Given the description of an element on the screen output the (x, y) to click on. 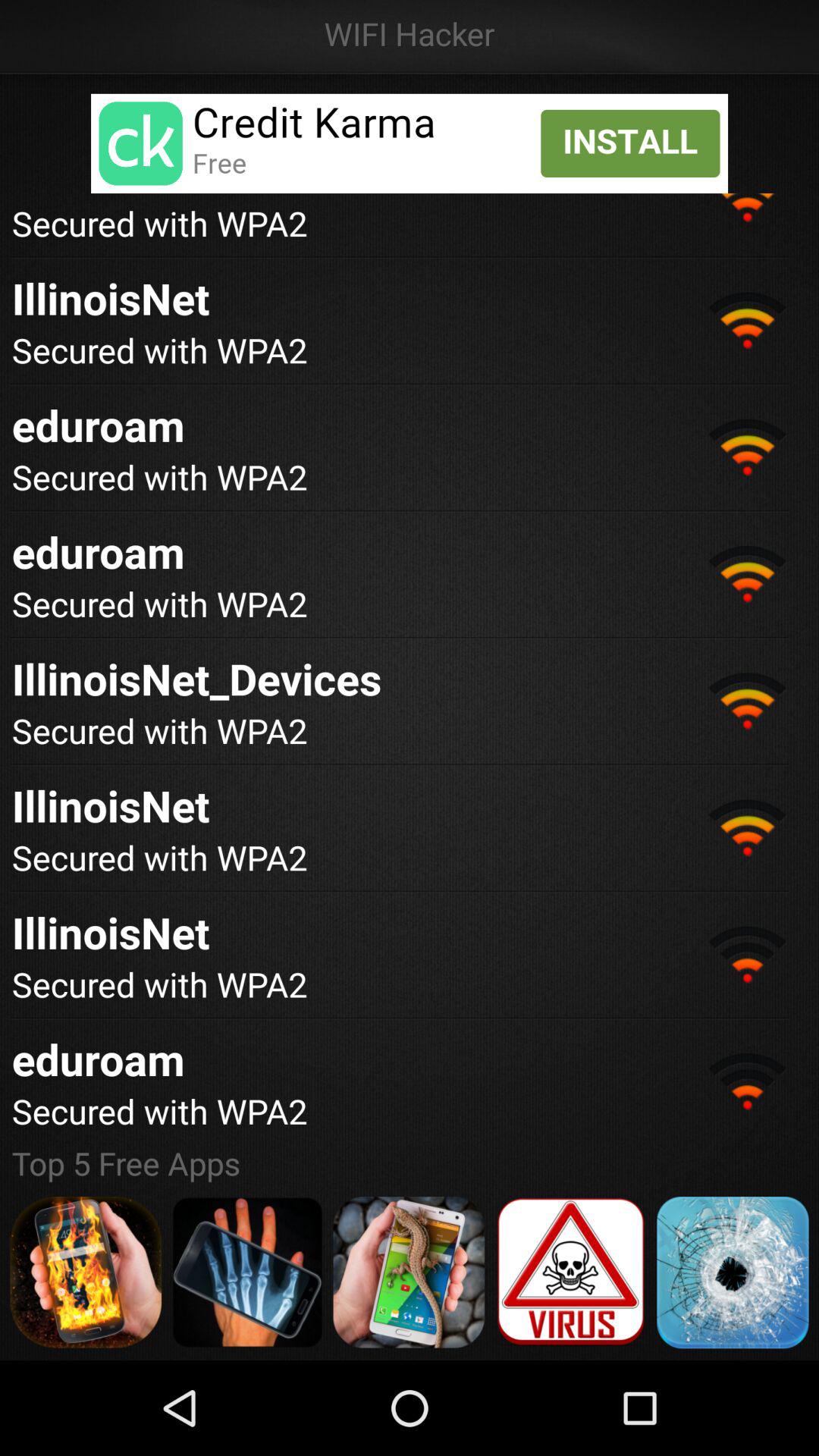
app (732, 1272)
